Given the description of an element on the screen output the (x, y) to click on. 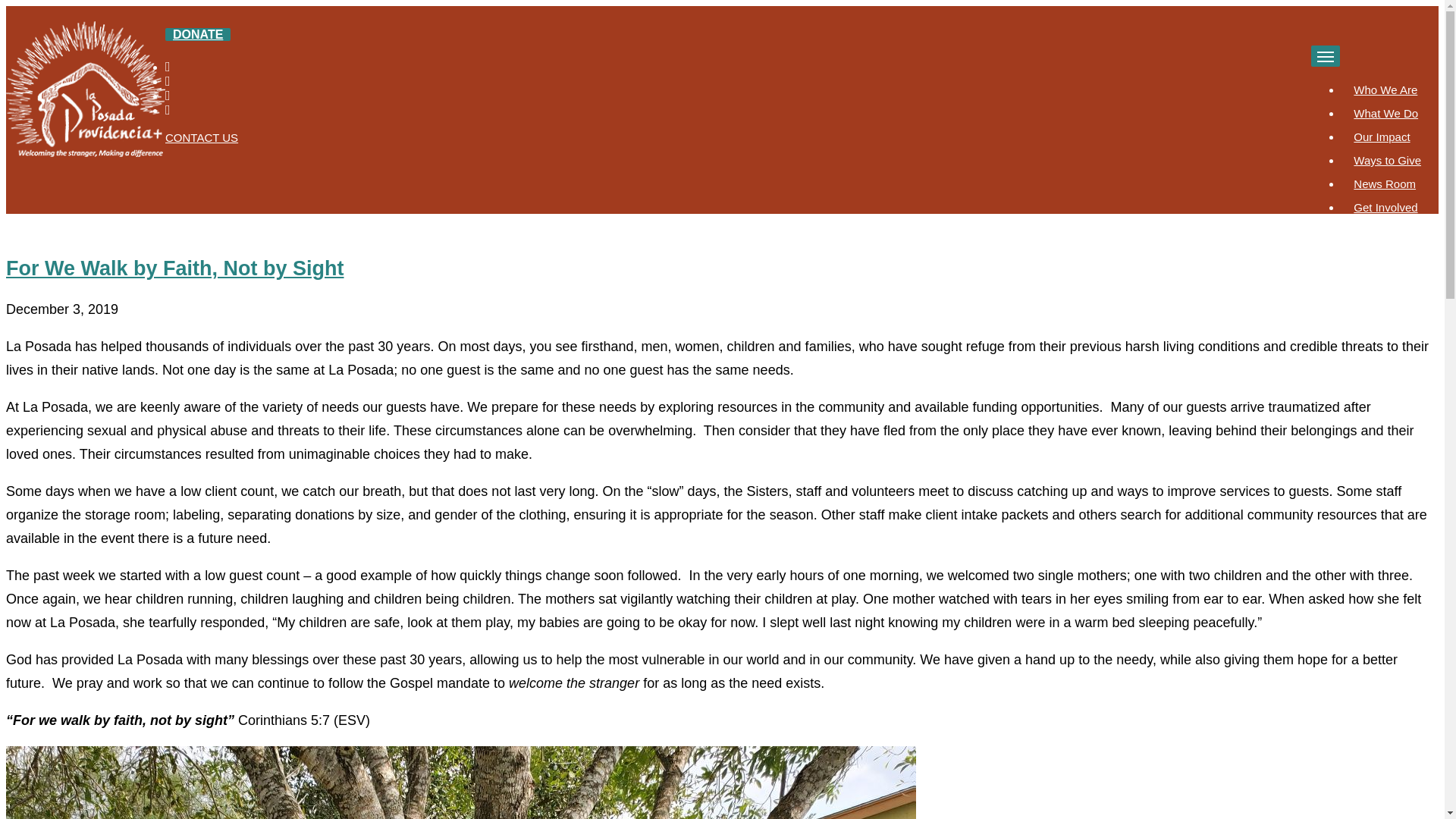
For We Walk by Faith, Not by Sight (174, 268)
CONTACT US (201, 137)
DONATE (197, 33)
For We Walk by Faith, Not by Sight (174, 268)
